Given the description of an element on the screen output the (x, y) to click on. 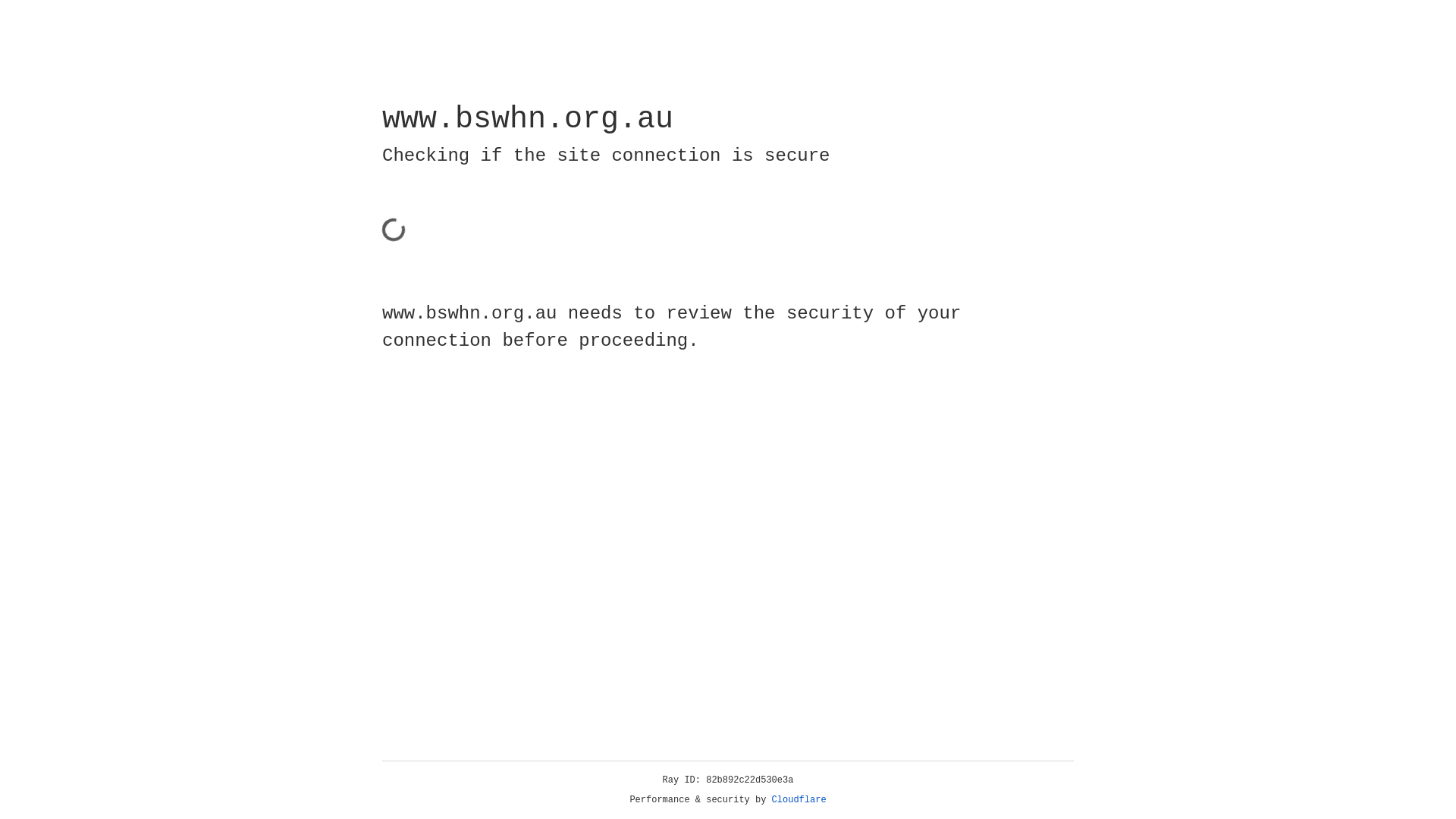
Cloudflare Element type: text (798, 799)
